Given the description of an element on the screen output the (x, y) to click on. 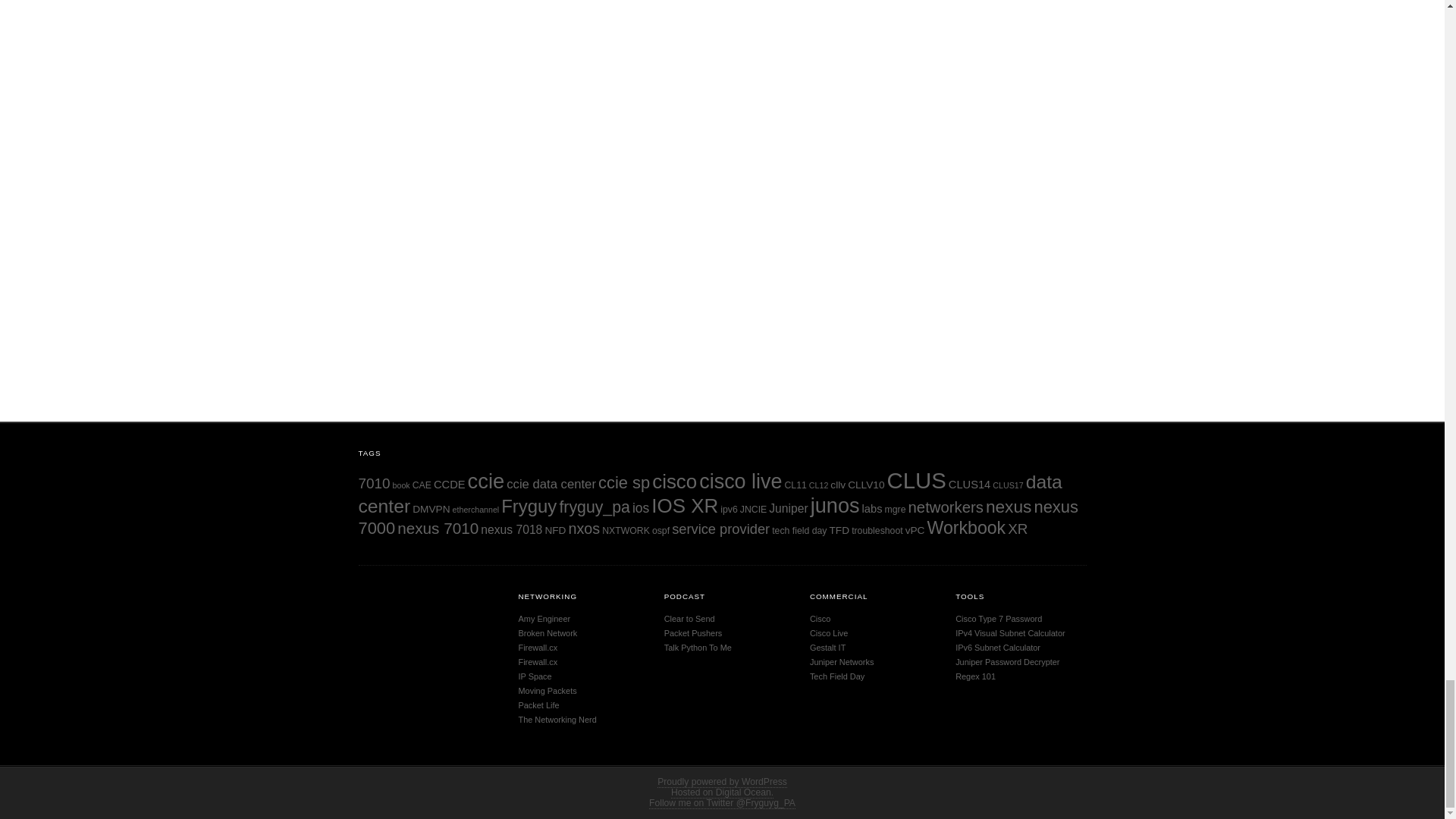
book (401, 484)
7010 (374, 483)
